Given the description of an element on the screen output the (x, y) to click on. 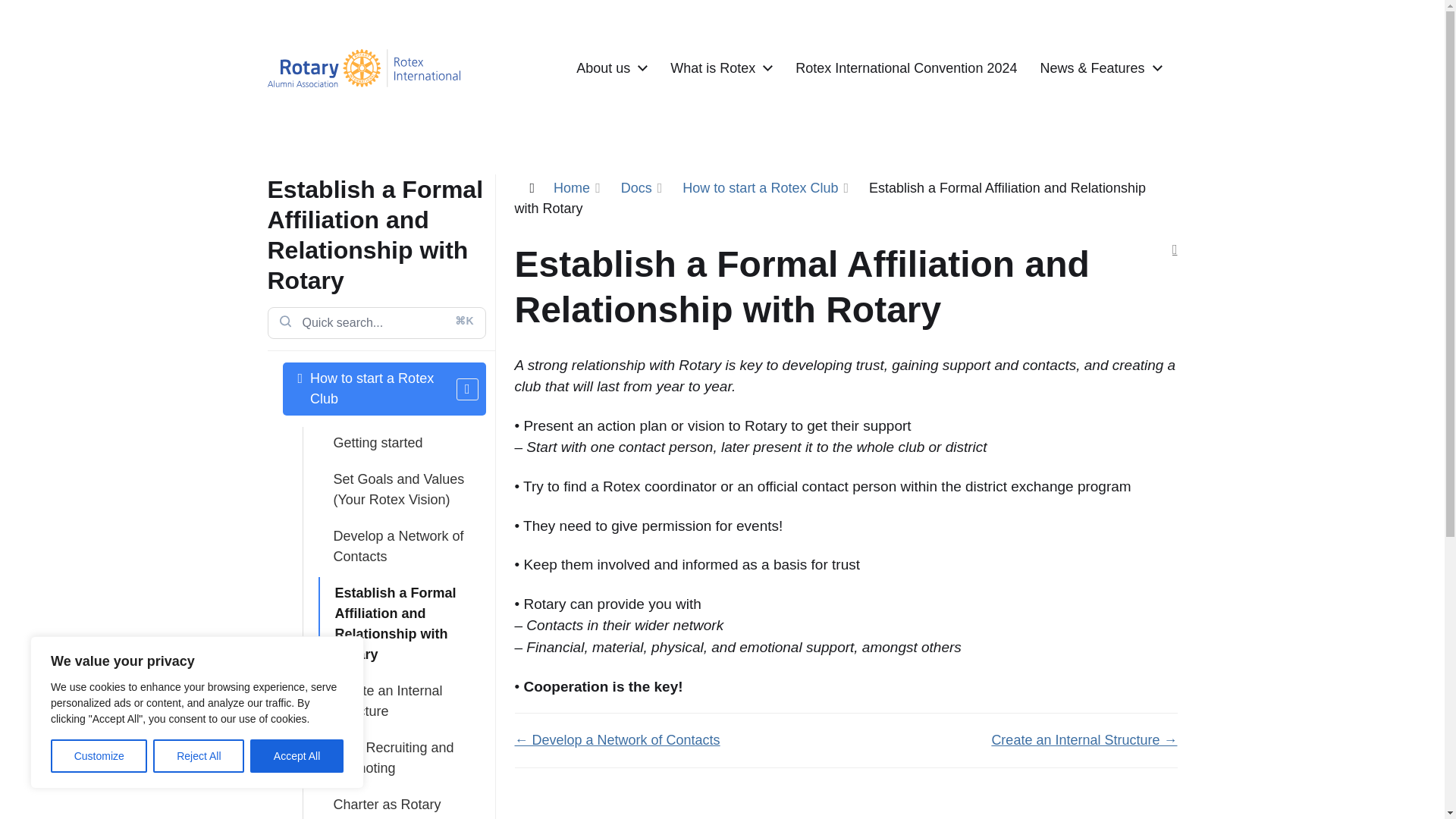
Customize (98, 756)
Rotex International Convention 2024 (905, 68)
Search for: (375, 323)
Accept All (296, 756)
What is Rotex (712, 68)
Reject All (198, 756)
About us (603, 68)
